Given the description of an element on the screen output the (x, y) to click on. 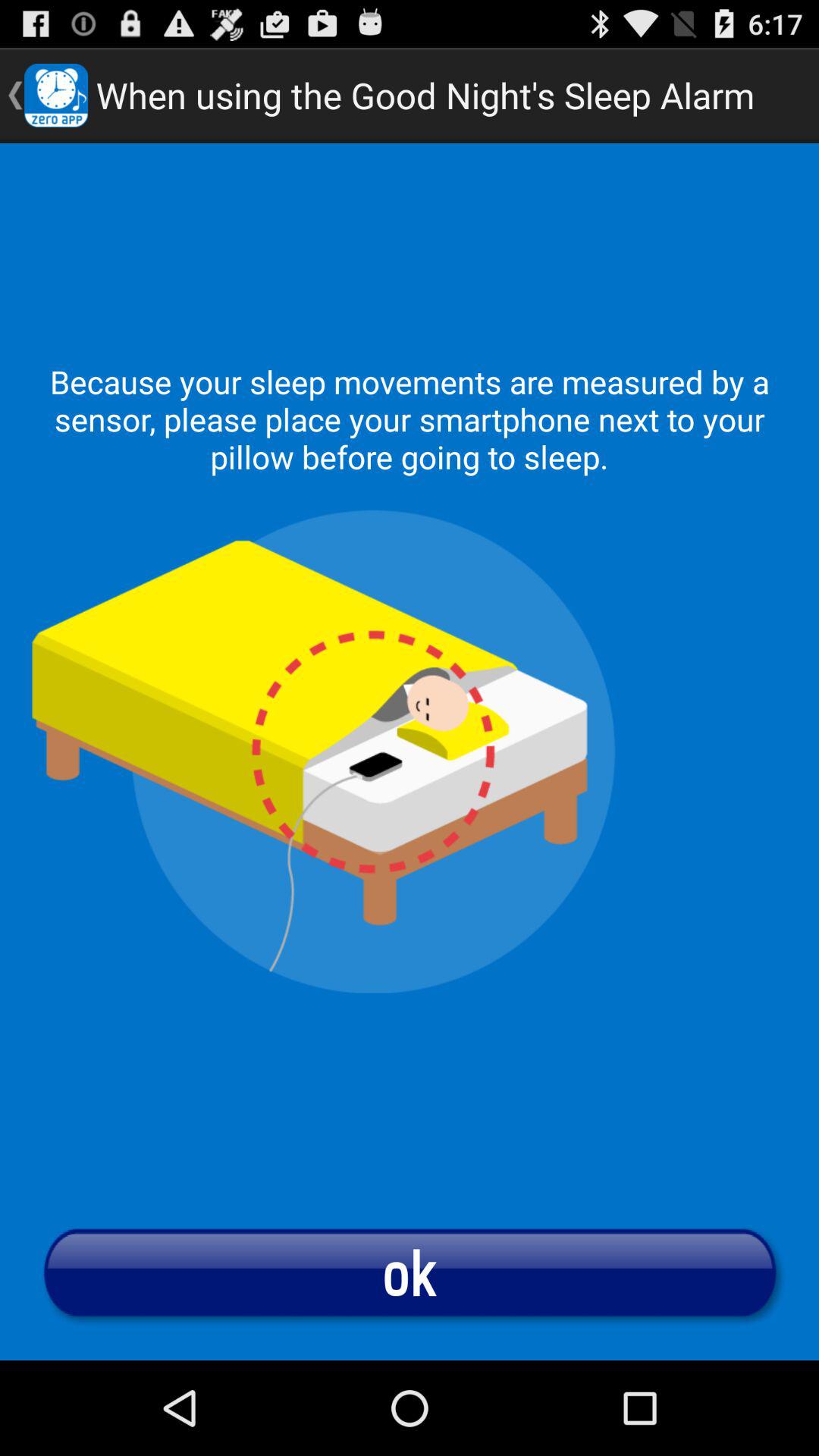
swipe to the ok button (409, 1271)
